Given the description of an element on the screen output the (x, y) to click on. 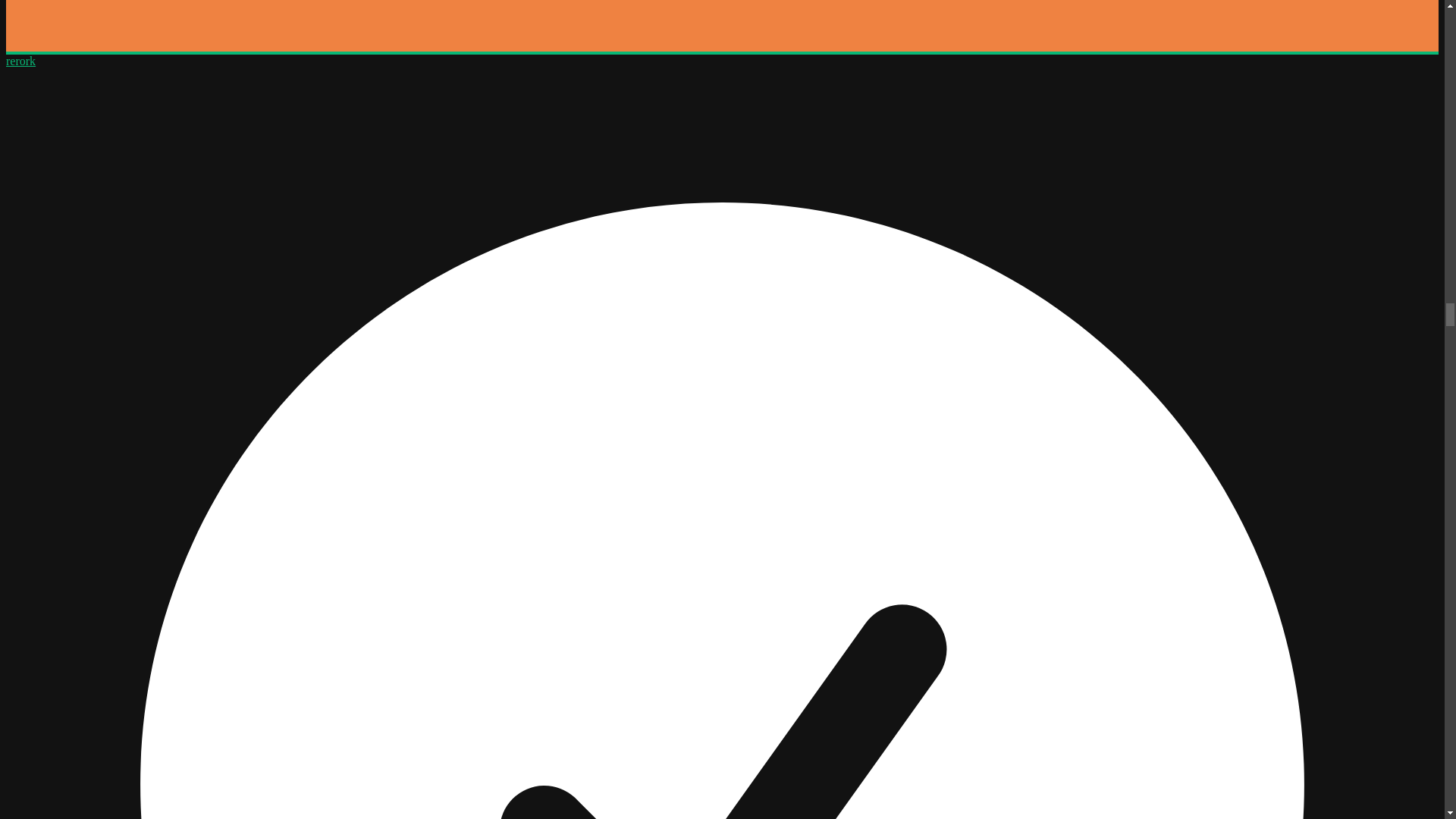
rerork (19, 60)
